Given the description of an element on the screen output the (x, y) to click on. 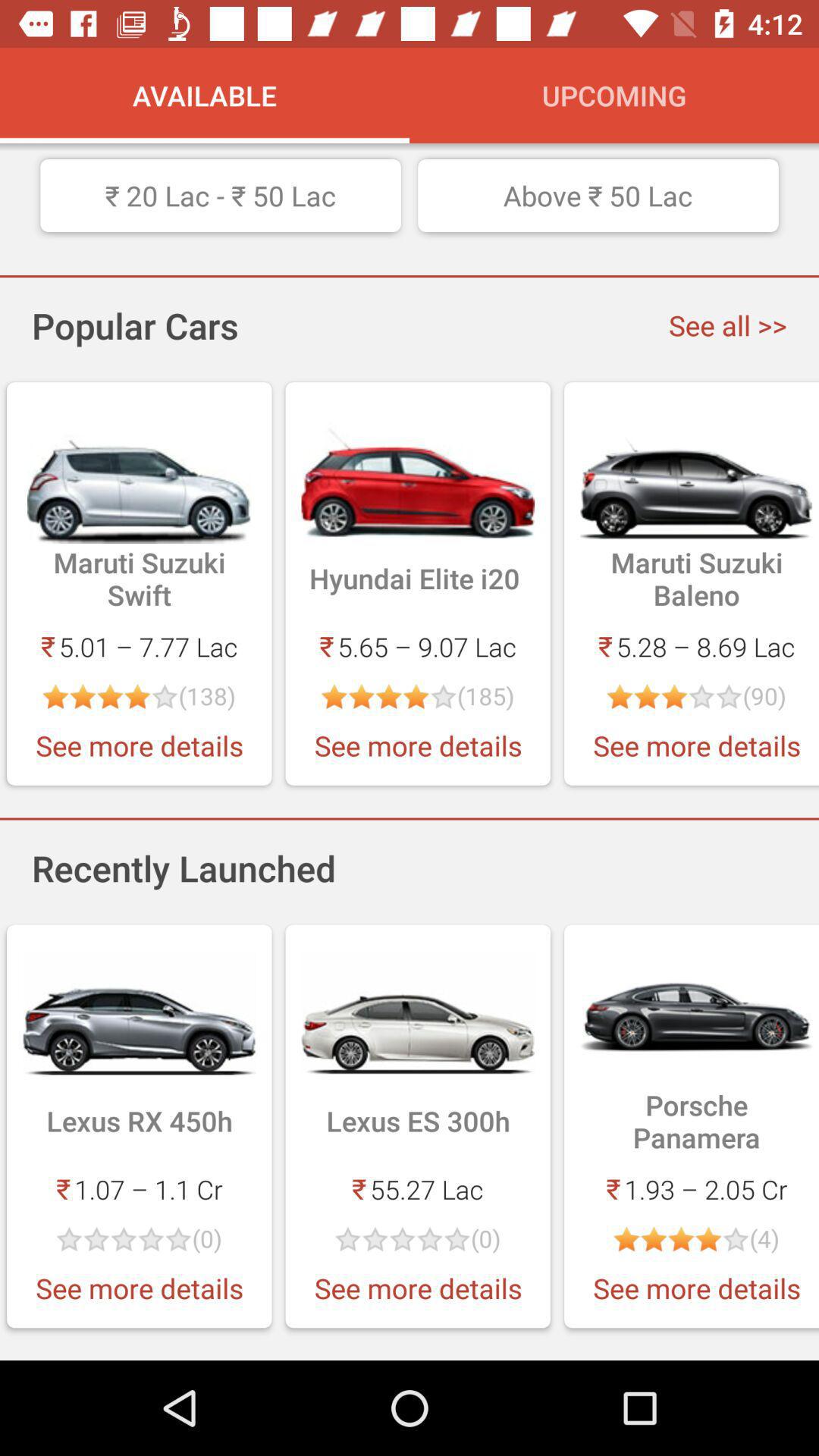
click item next to the upcoming icon (204, 95)
